Given the description of an element on the screen output the (x, y) to click on. 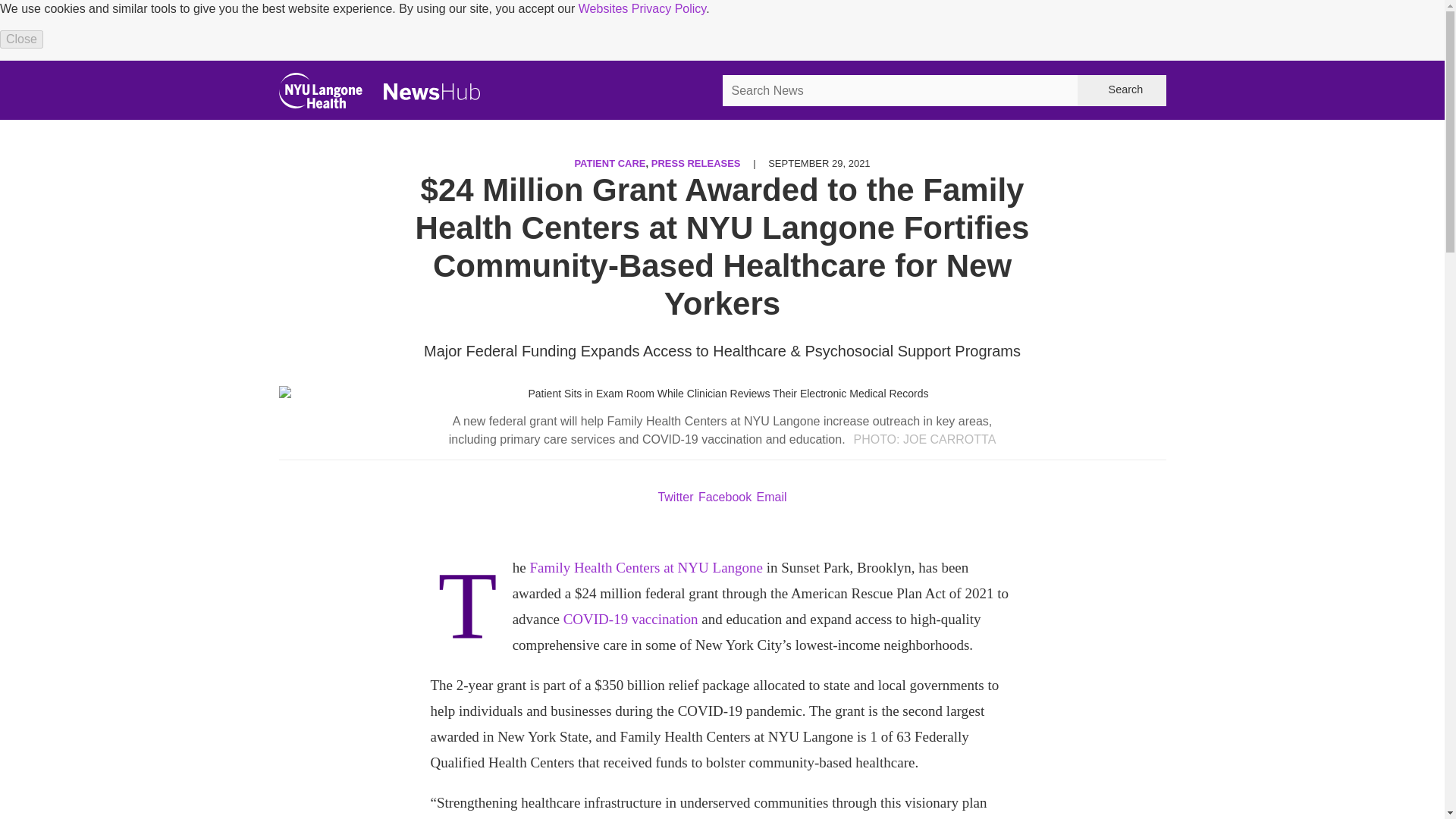
Search (1121, 91)
Twitter (675, 496)
Email (772, 496)
Facebook (724, 496)
Facebook (724, 496)
Twitter (675, 496)
Websites Privacy Policy (642, 8)
PRESS RELEASES (695, 163)
Family Health Centers at NYU Langone (645, 567)
Email (772, 496)
